Given the description of an element on the screen output the (x, y) to click on. 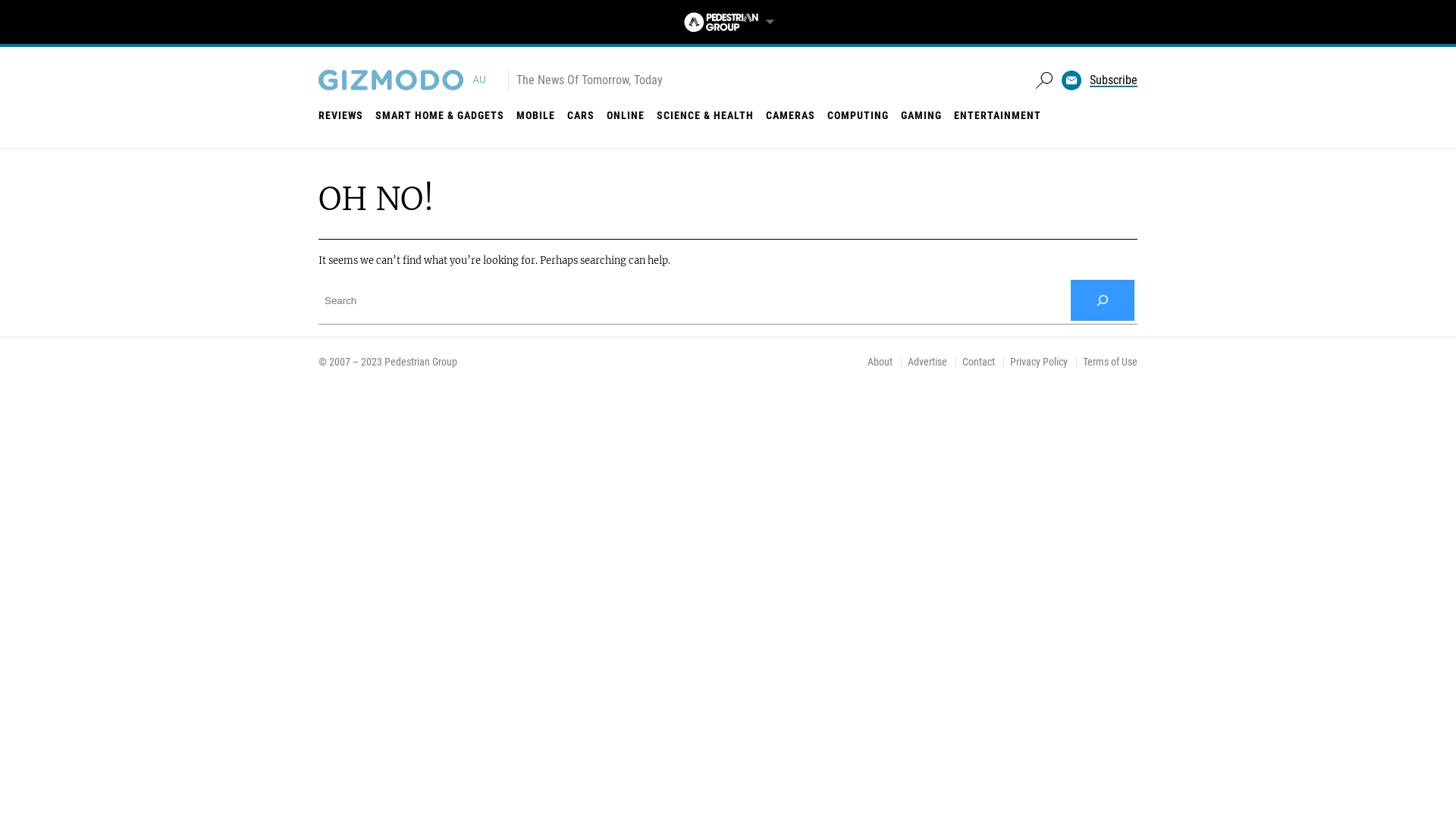
SMART HOME & GADGETS Element type: text (439, 115)
Subscribe Element type: text (1113, 79)
CAMERAS Element type: text (790, 115)
COMPUTING Element type: text (857, 115)
CARS Element type: text (580, 115)
GAMING Element type: text (920, 115)
REVIEWS Element type: text (340, 115)
Subscribe Element type: text (782, 455)
SCIENCE & HEALTH Element type: text (704, 115)
Contact Element type: text (978, 361)
About Element type: text (879, 361)
Terms of Use Element type: text (1109, 361)
ONLINE Element type: text (625, 115)
Privacy Policy Element type: text (1038, 361)
ENTERTAINMENT Element type: text (997, 115)
Advertise Element type: text (927, 361)
MOBILE Element type: text (535, 115)
